Given the description of an element on the screen output the (x, y) to click on. 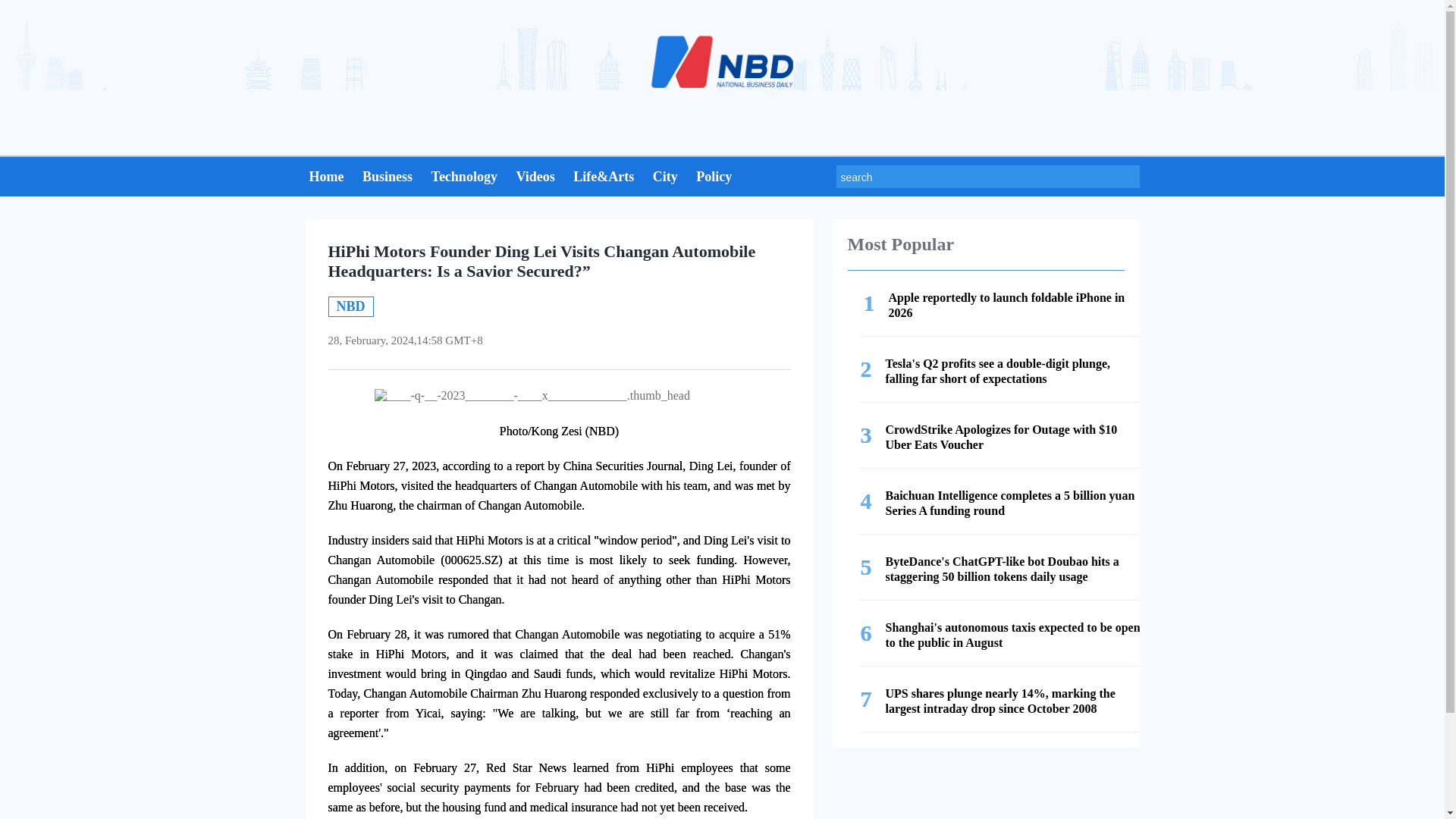
Business (387, 179)
Policy (1003, 305)
Home (714, 179)
City (325, 179)
Technology (665, 179)
Videos (464, 179)
